Given the description of an element on the screen output the (x, y) to click on. 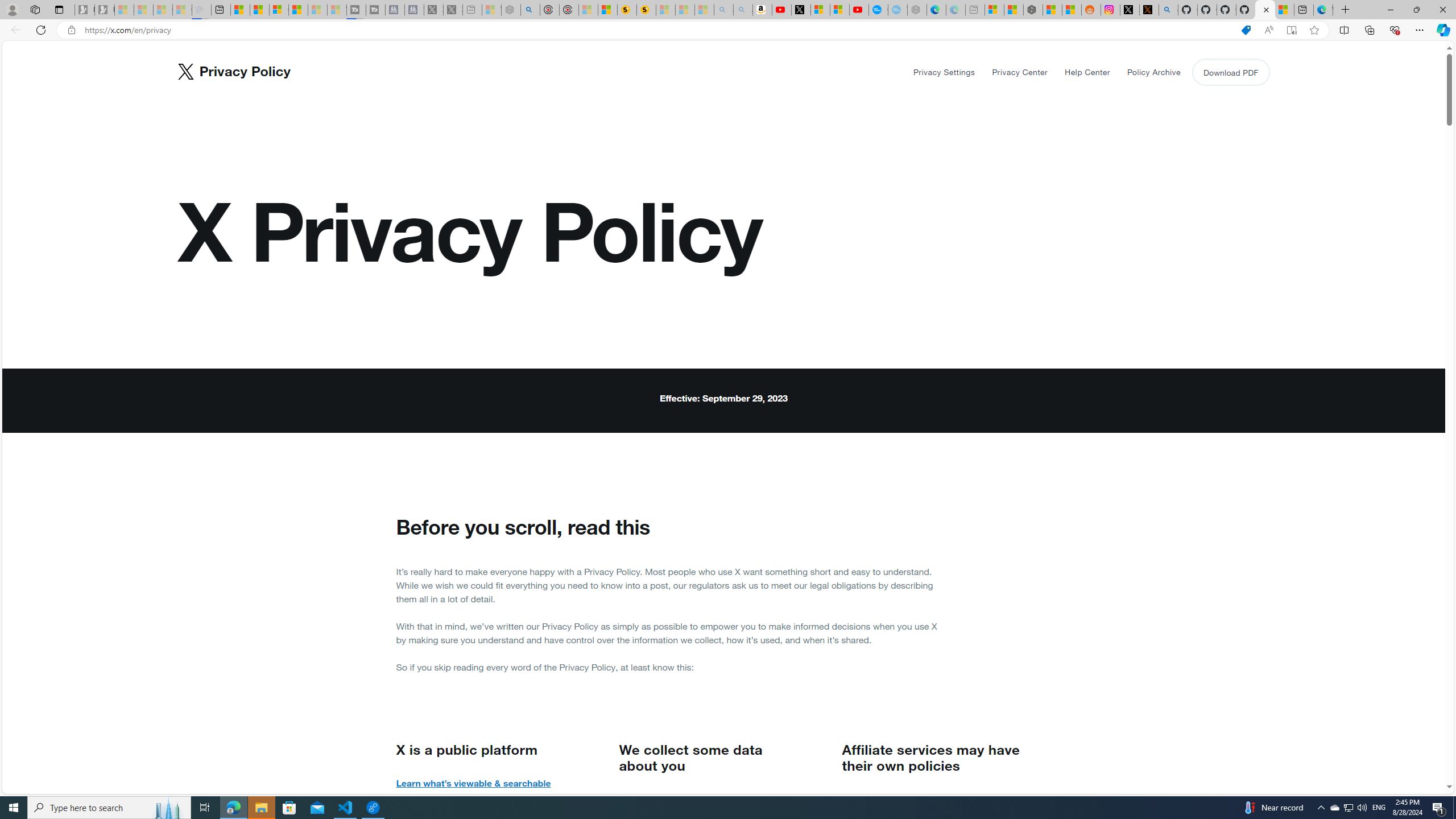
Privacy Settings (943, 71)
Nordace - Duffels (1033, 9)
Privacy Center (1020, 72)
Log in to X / X (1129, 9)
Opinion: Op-Ed and Commentary - USA TODAY (877, 9)
Streaming Coverage | T3 - Sleeping (356, 9)
Help Center (1086, 71)
Policy Archive (1153, 71)
